Given the description of an element on the screen output the (x, y) to click on. 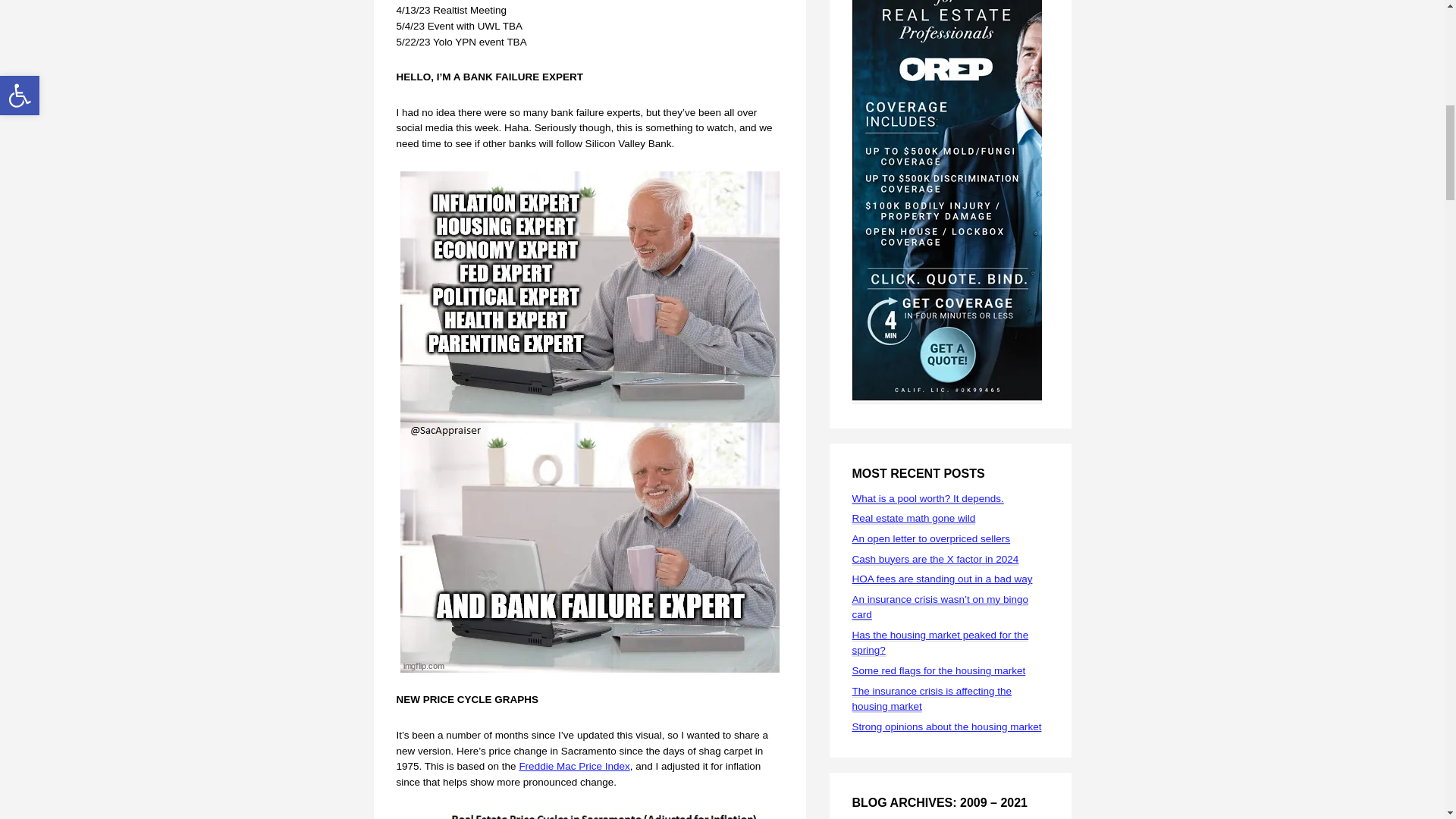
Freddie Mac Price Index (573, 766)
